Given the description of an element on the screen output the (x, y) to click on. 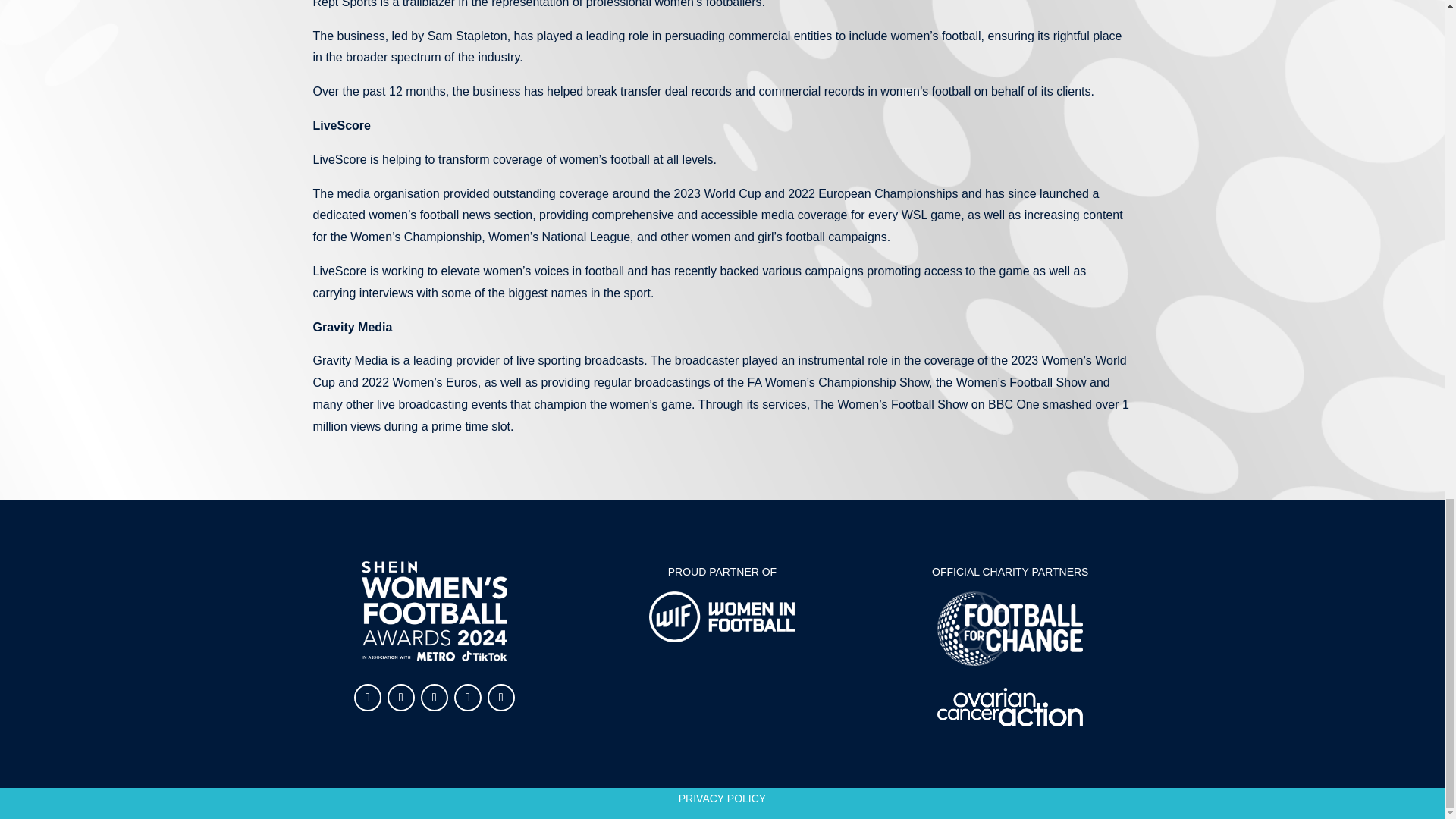
Ovarian Cancer Action (1010, 706)
Follow on X (434, 697)
Follow on Facebook (367, 697)
Follow on TikTok (501, 697)
FFC Logo 2022 web Logo (1010, 628)
Follow on LinkedIn (467, 697)
PRIVACY POLICY (721, 798)
Follow on Instagram (400, 697)
Women In Football (721, 616)
Privacy Policy (721, 798)
